Given the description of an element on the screen output the (x, y) to click on. 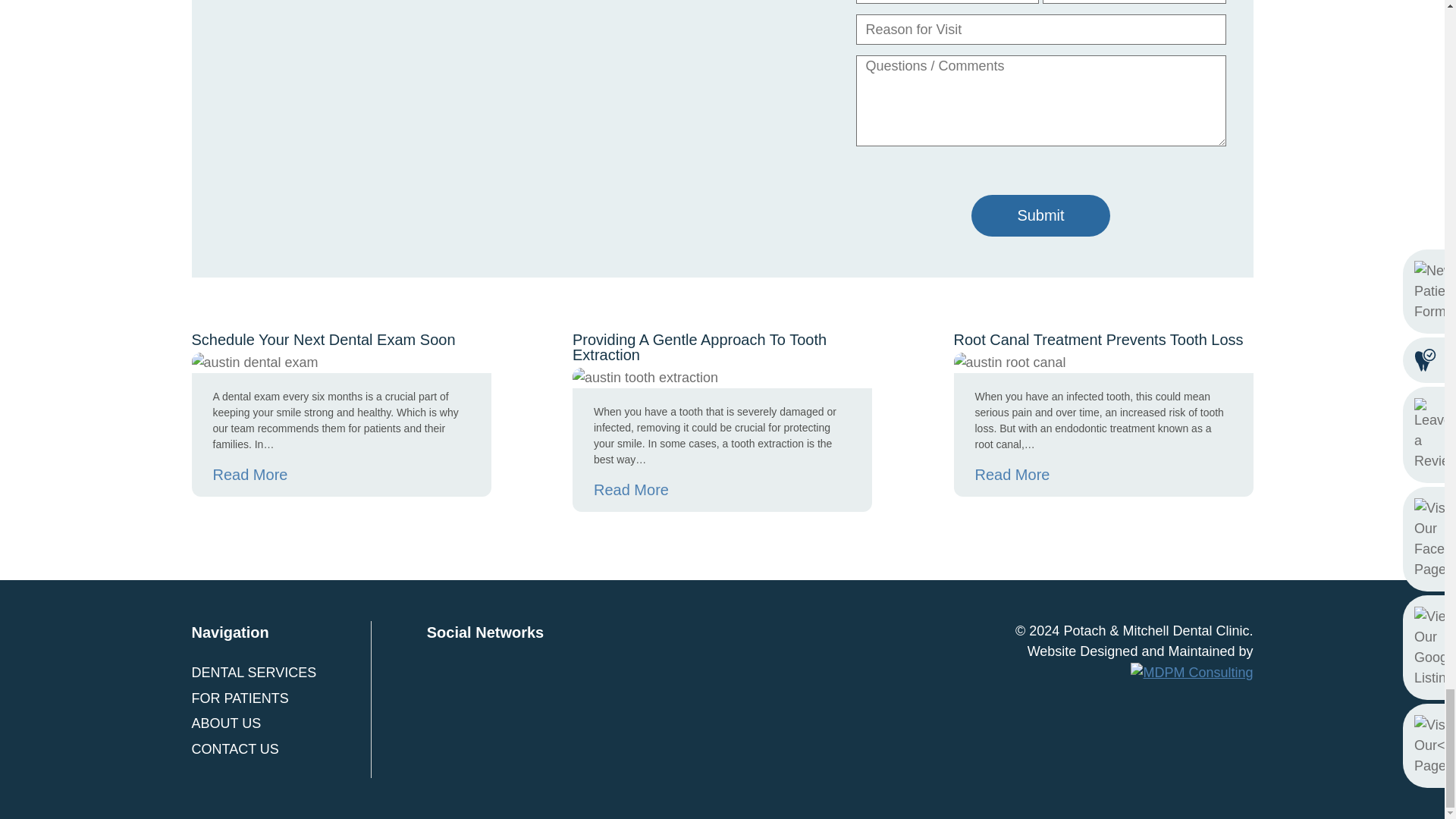
Submit (1040, 215)
